Given the description of an element on the screen output the (x, y) to click on. 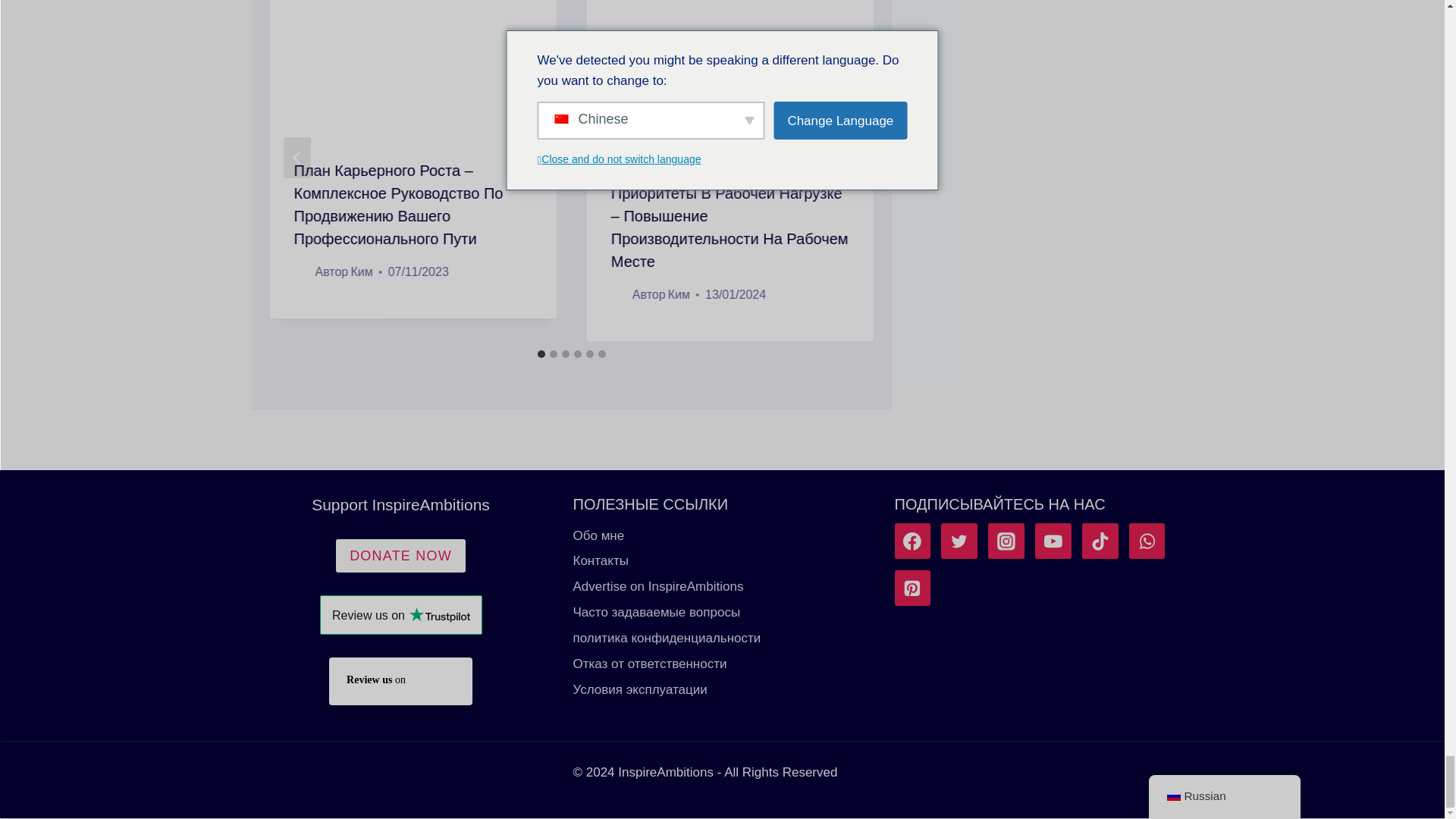
Customer reviews powered by Trustpilot (400, 614)
